Given the description of an element on the screen output the (x, y) to click on. 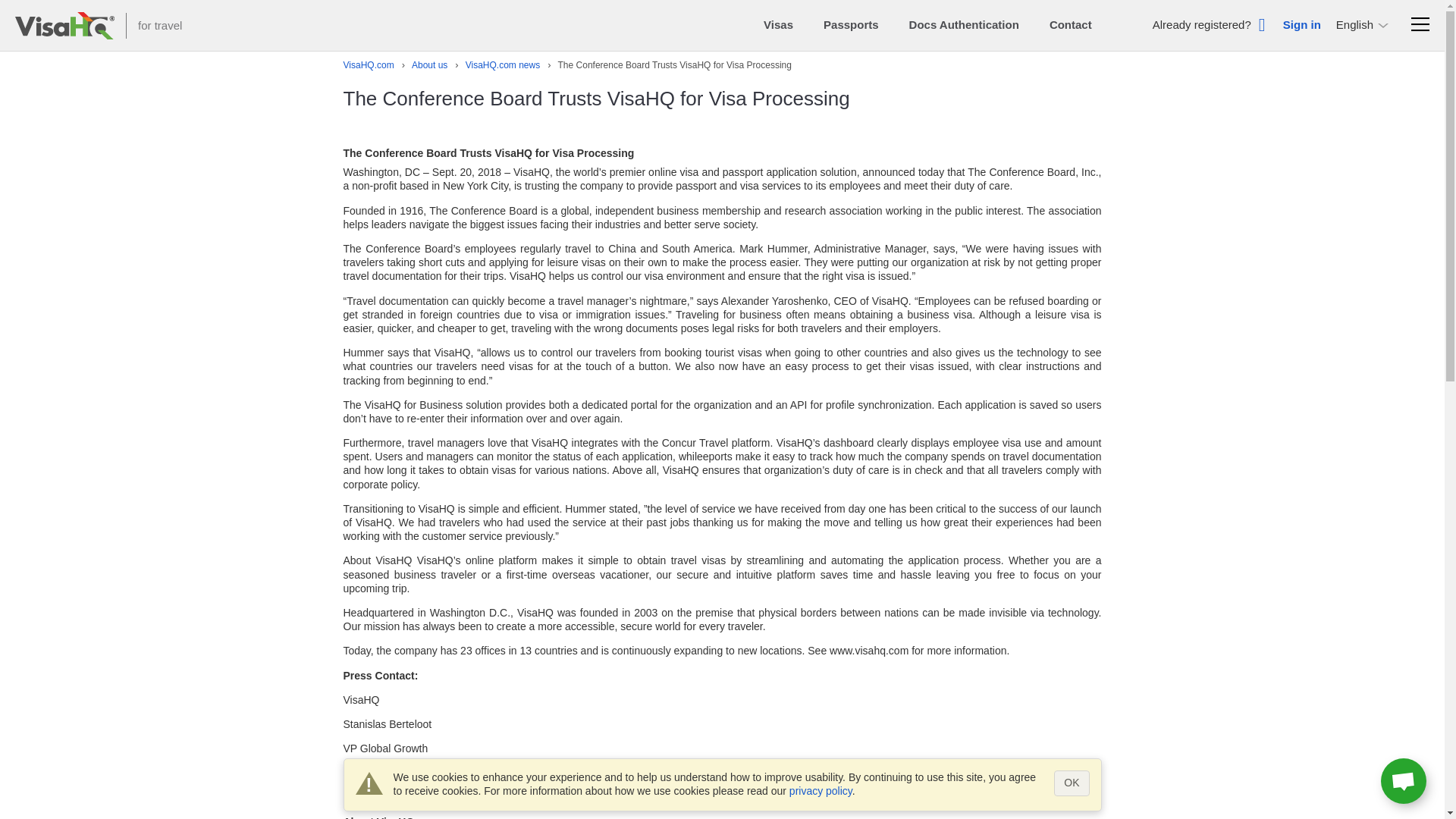
Visa Services (367, 65)
Passport and Visa Services (64, 25)
Visas (777, 24)
Passports (851, 24)
Contact (1070, 24)
Contact (1070, 24)
About us (421, 65)
Docs Authentication (963, 24)
Docs Authentication (963, 24)
Visas (777, 24)
Passports (851, 24)
VisaHQ.com (367, 65)
VisaHQ.com news (493, 65)
